Given the description of an element on the screen output the (x, y) to click on. 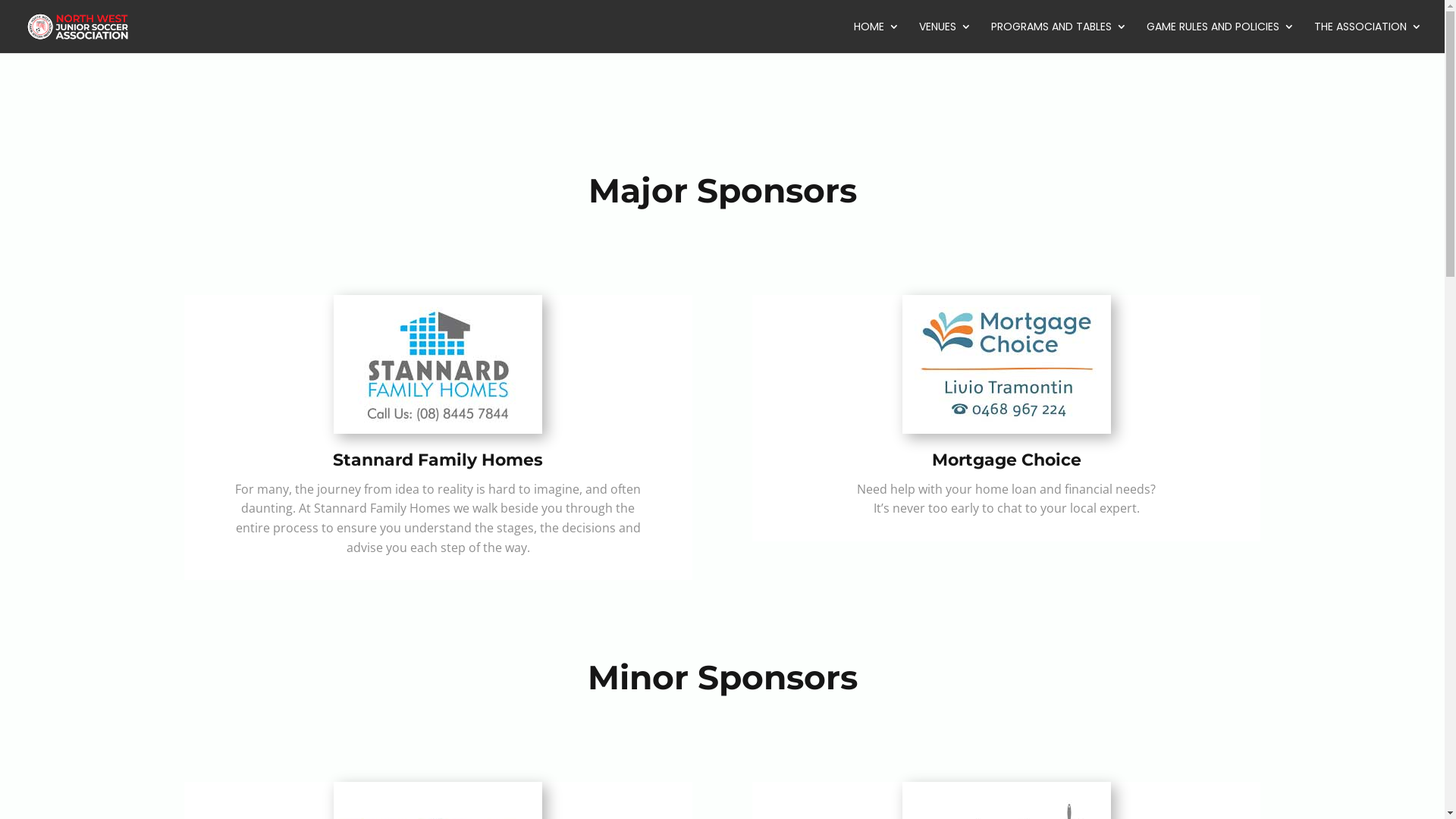
HOME Element type: text (876, 37)
Stannard Family Homes Element type: text (437, 459)
PROGRAMS AND TABLES Element type: text (1058, 37)
GAME RULES AND POLICIES Element type: text (1220, 37)
VENUES Element type: text (945, 37)
Mortgage Choice Element type: text (1005, 459)
THE ASSOCIATION Element type: text (1367, 37)
